Given the description of an element on the screen output the (x, y) to click on. 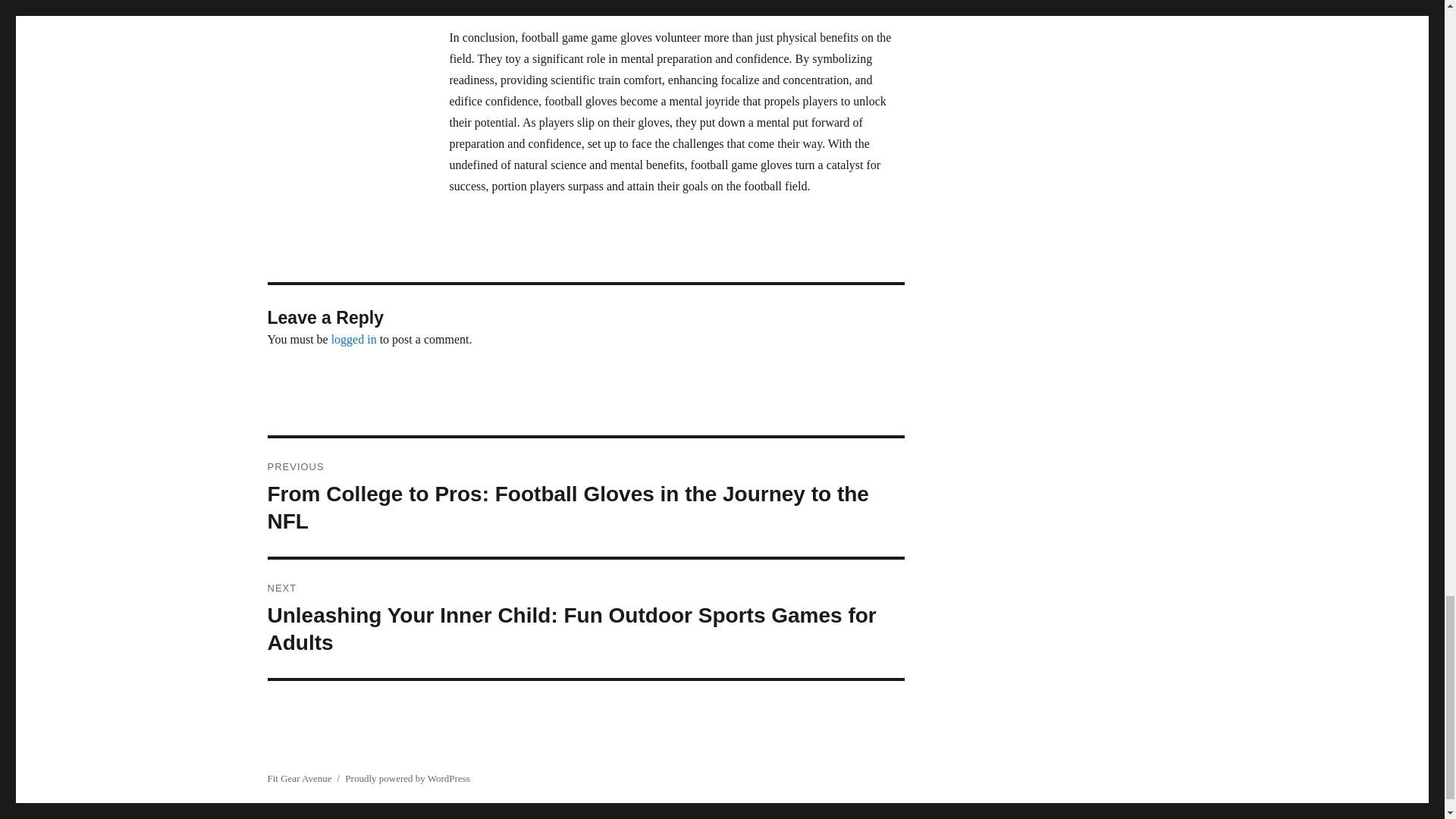
logged in (354, 338)
